Given the description of an element on the screen output the (x, y) to click on. 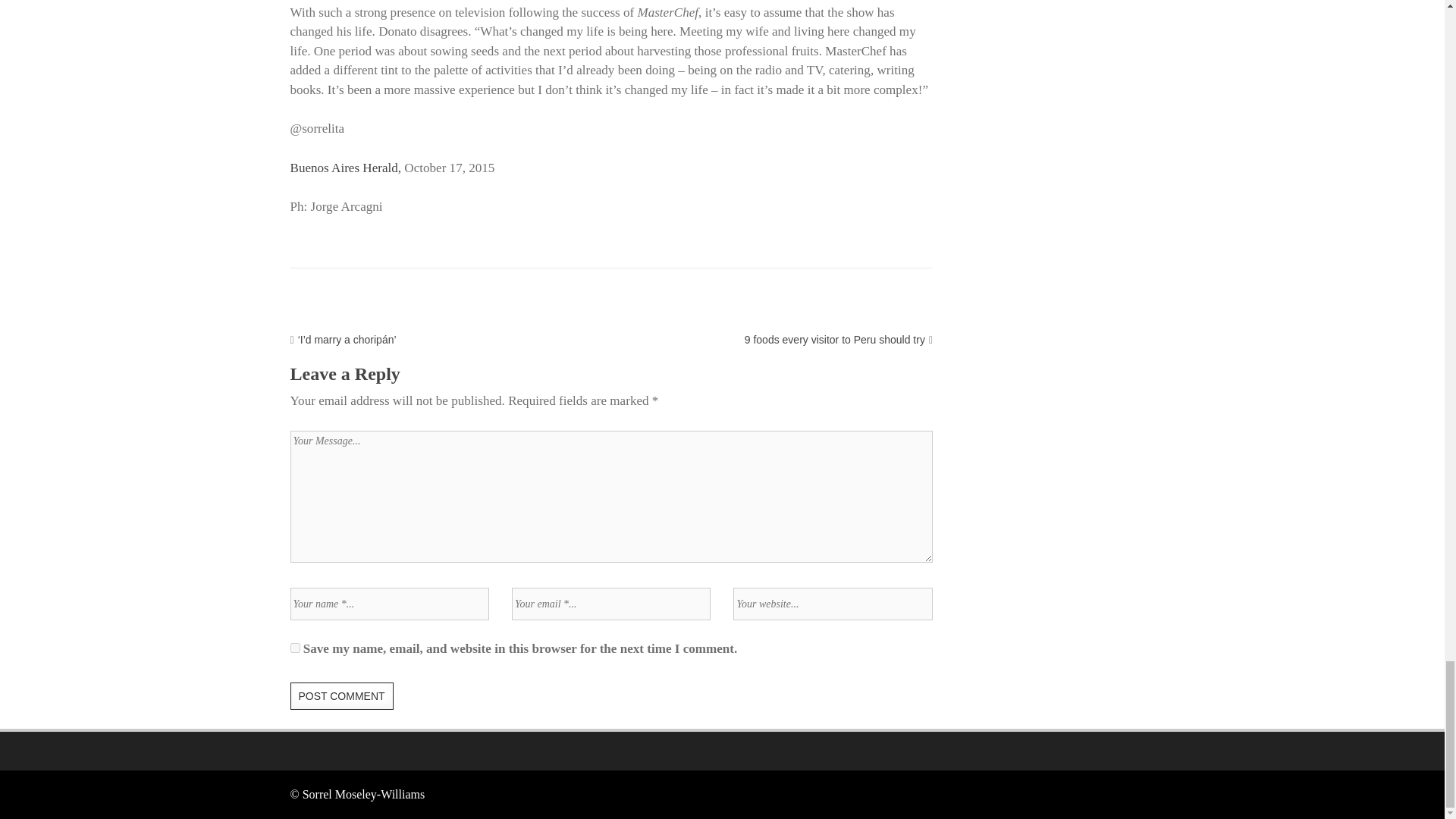
yes (294, 647)
Buenos Aires Herald, (345, 167)
Post Comment (341, 696)
Post Comment (341, 696)
9 foods every visitor to Peru should try (834, 339)
